Given the description of an element on the screen output the (x, y) to click on. 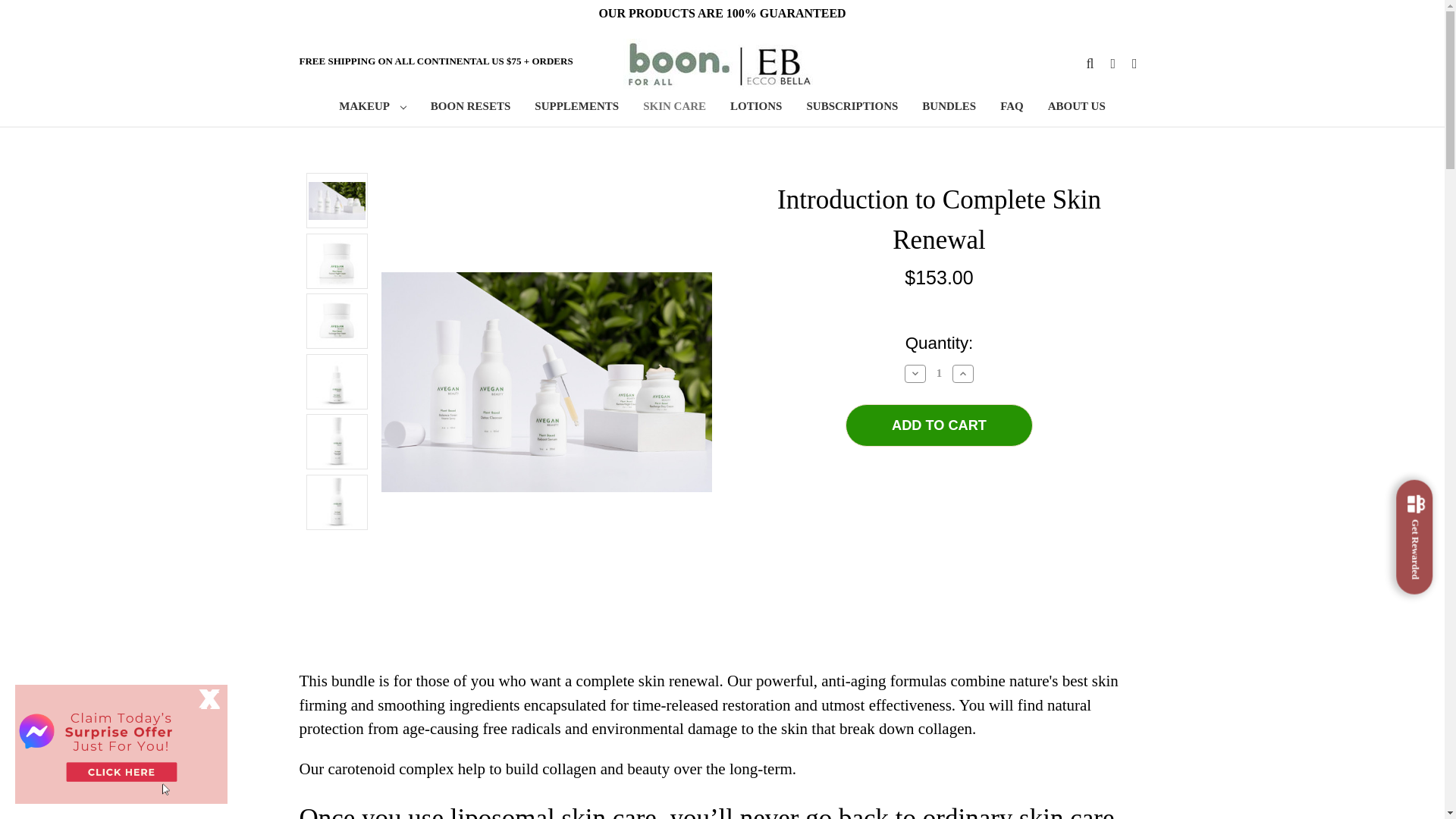
LOTIONS (755, 107)
1 (939, 373)
Decrease Quantity: (915, 373)
SKIN CARE (673, 107)
Restore Night Cream (336, 260)
Detox Cleaner (336, 501)
BOON RESETS (470, 107)
Ecco Bella (717, 63)
ABOUT US (1076, 107)
FAQ (1011, 107)
SUBSCRIPTIONS (851, 107)
MAKEUP (372, 107)
Reboot Serum (336, 381)
SUPPLEMENTS (576, 107)
Recharge Day Cream (336, 320)
